Given the description of an element on the screen output the (x, y) to click on. 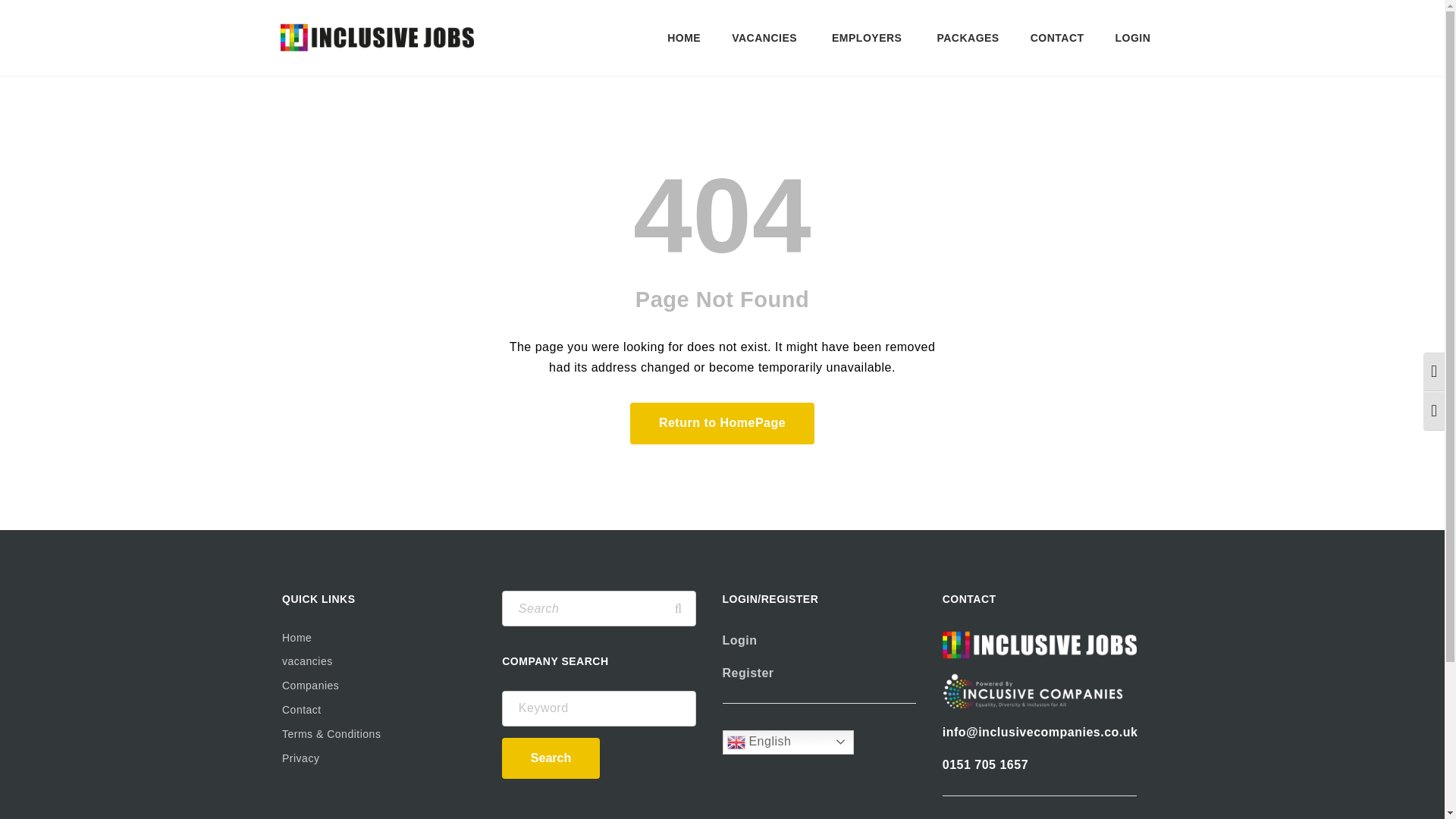
Companies (379, 686)
Search (550, 758)
vacancies (379, 661)
Contact (379, 710)
Privacy (379, 759)
CONTACT (1056, 38)
EMPLOYERS (868, 38)
PACKAGES (967, 38)
Login (739, 640)
Home (379, 638)
Return to HomePage (721, 423)
VACANCIES (765, 38)
Search (678, 608)
Search (678, 608)
